Given the description of an element on the screen output the (x, y) to click on. 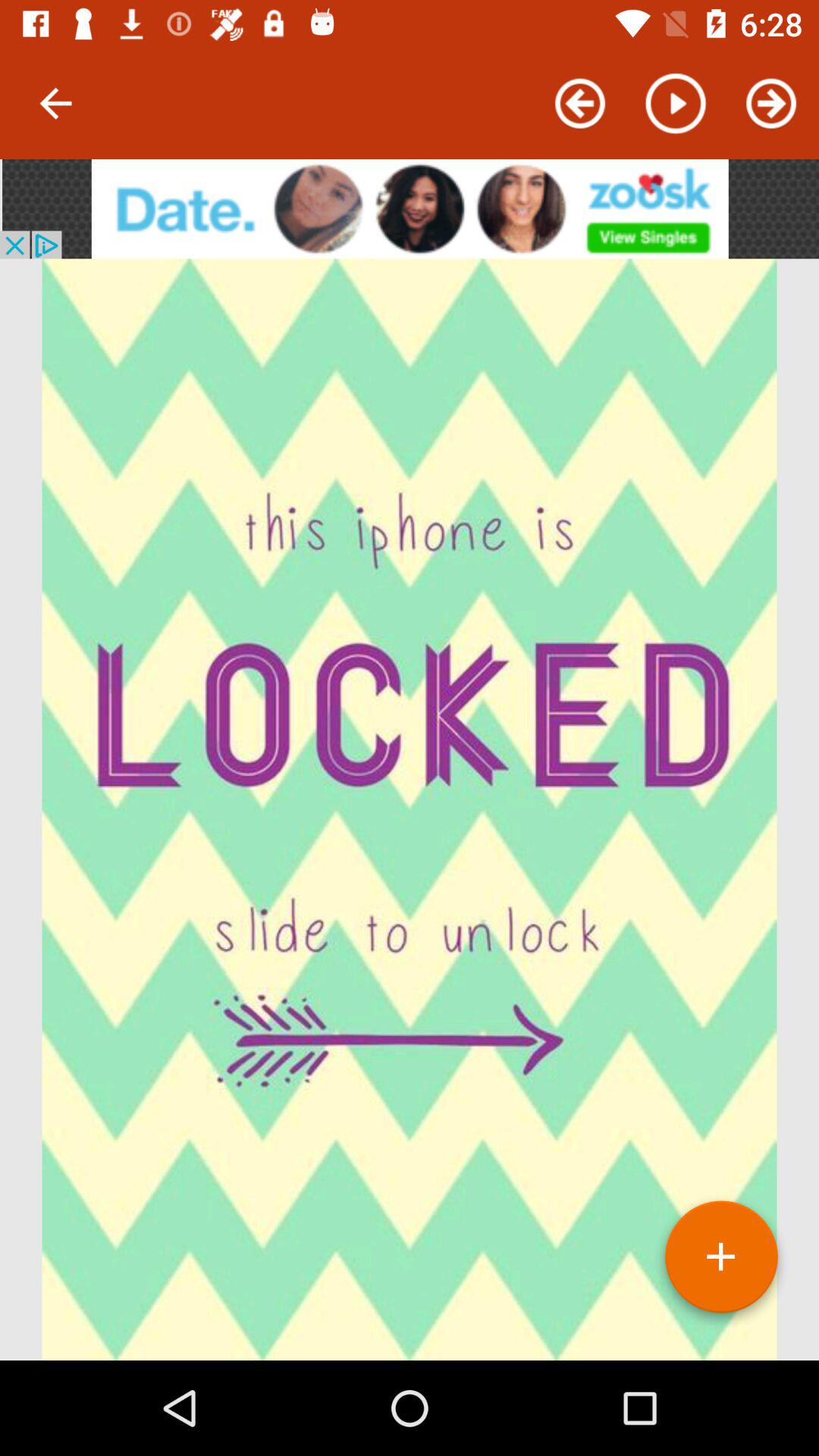
add option (721, 1262)
